Given the description of an element on the screen output the (x, y) to click on. 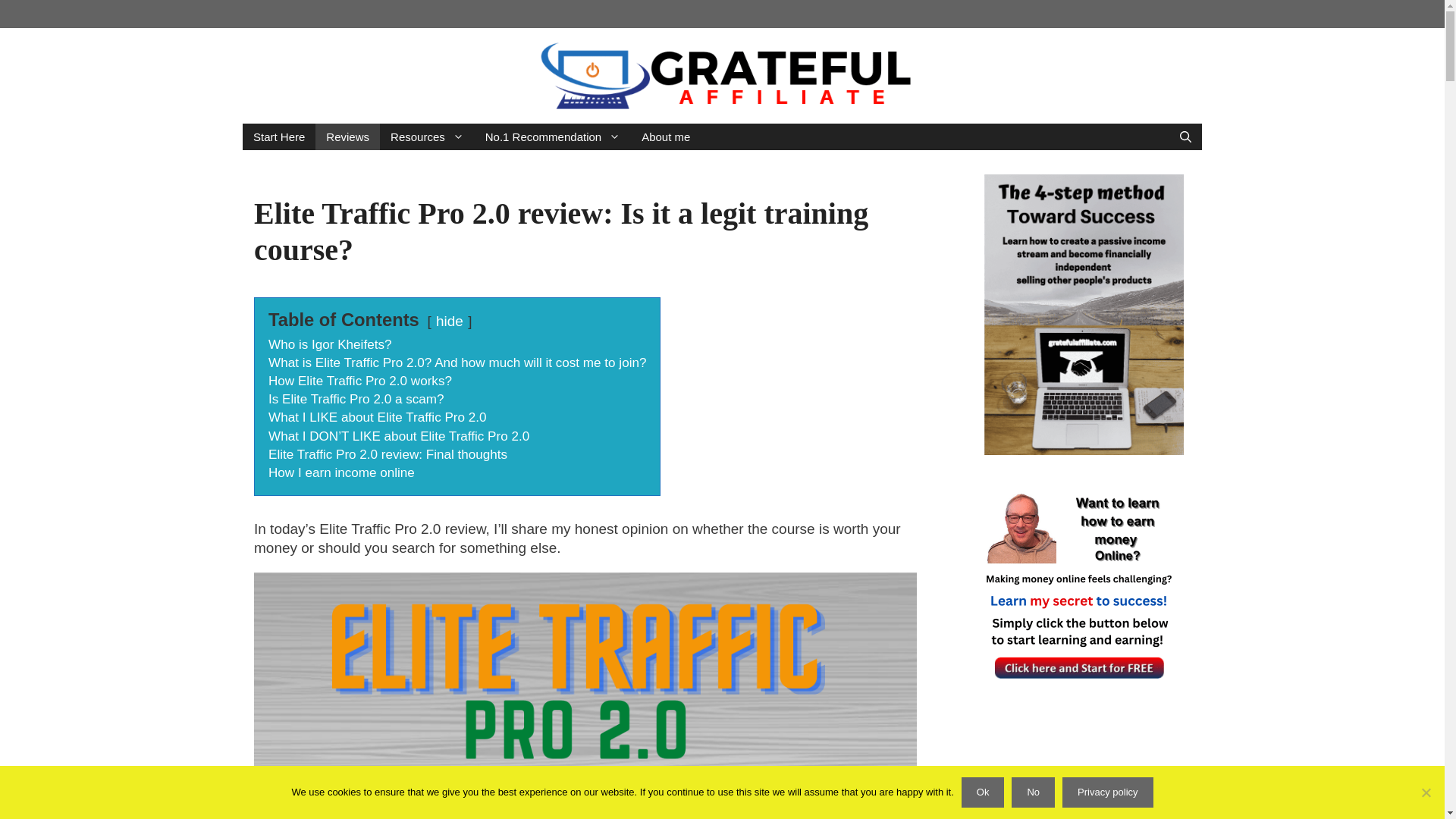
Reviews (347, 136)
No.1 Recommendation (552, 136)
Elite Traffic Pro 2.0 review: Final thoughts (386, 454)
How I earn income online (340, 472)
How Elite Traffic Pro 2.0 works? (359, 380)
Advertisement (1083, 784)
hide (449, 320)
What I LIKE about Elite Traffic Pro 2.0 (376, 417)
Start Here (279, 136)
Is Elite Traffic Pro 2.0 a scam? (355, 399)
About me (665, 136)
Resources (427, 136)
Want to learn how to earn Money online (1078, 585)
No (1425, 792)
